Given the description of an element on the screen output the (x, y) to click on. 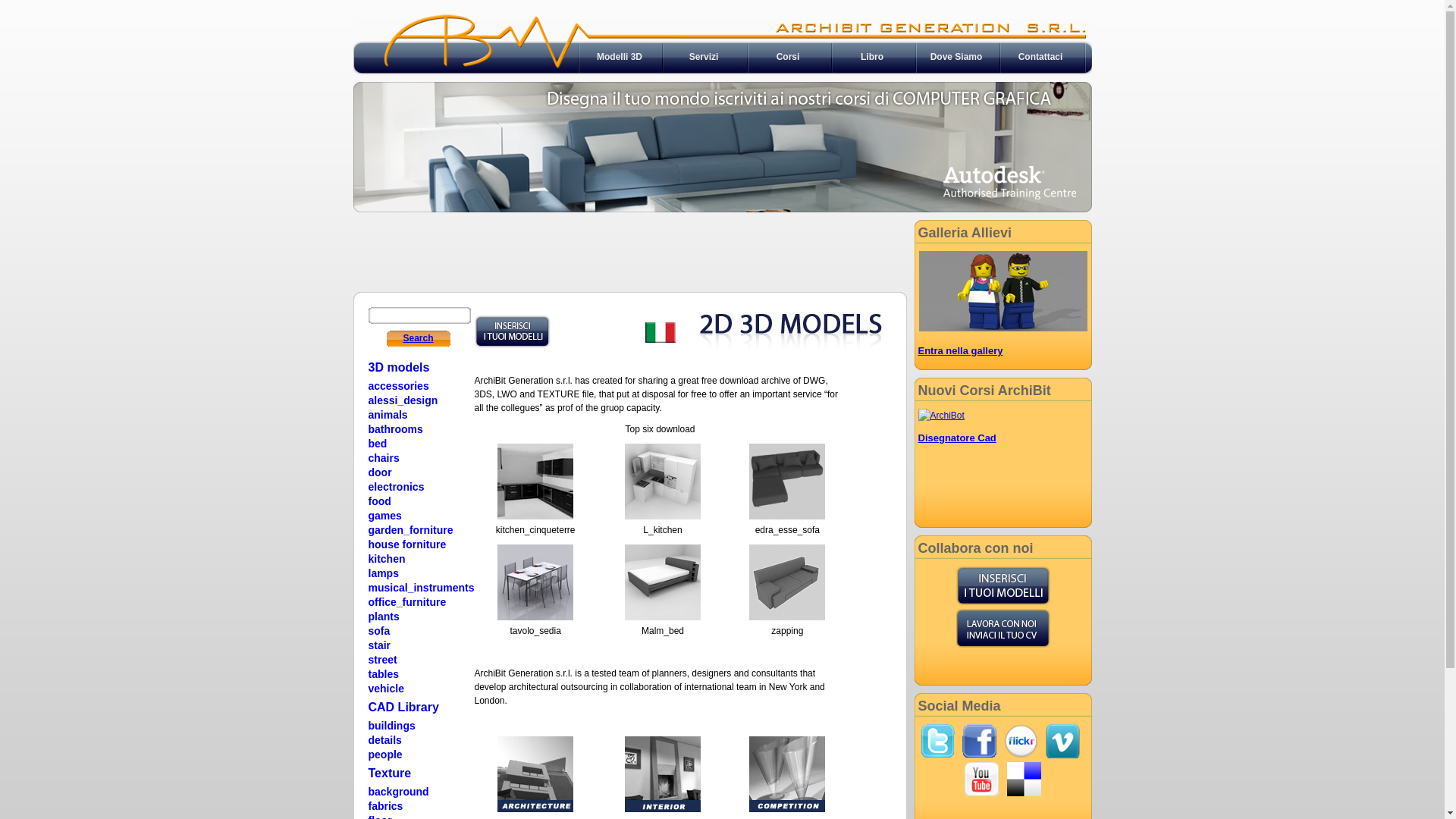
details Element type: text (384, 740)
electronics Element type: text (396, 486)
Archibit Generation S.r.l. Element type: hover (722, 70)
Archibit Generation S.r.l. Element type: hover (722, 208)
Texture Element type: text (389, 771)
kitchen Element type: text (386, 558)
tables Element type: text (383, 674)
street Element type: text (382, 659)
bed Element type: text (377, 443)
musical_instruments Element type: text (421, 587)
stair Element type: text (379, 645)
plants Element type: text (383, 616)
Corsi Element type: text (788, 56)
Le nostre immagini su Flickr Element type: hover (1021, 741)
sofa Element type: text (379, 630)
bathrooms Element type: text (395, 429)
garden_forniture Element type: text (410, 530)
food Element type: text (379, 501)
buildings Element type: text (391, 725)
office_furniture Element type: text (407, 602)
Servizi Element type: text (703, 56)
Seguici su Twitter Element type: hover (937, 741)
Lavora con noi Element type: hover (1002, 627)
house forniture Element type: text (407, 544)
games Element type: text (384, 515)
Modelli 3D Element type: text (619, 56)
vehicle Element type: text (386, 688)
background Element type: text (398, 791)
people Element type: text (385, 754)
accessories Element type: text (398, 385)
Seguici su Facebook Element type: hover (979, 741)
I nostri video su You Tube Element type: hover (981, 779)
Advertisement Element type: hover (629, 253)
animals Element type: text (387, 414)
Disegnatore Cad Element type: text (956, 437)
lamps Element type: text (383, 573)
I nostri video su Vimeo Element type: hover (1062, 741)
3D models Element type: text (398, 366)
Inviaci i tuoi modelli Element type: hover (1002, 585)
CAD Library Element type: text (403, 706)
Search Element type: text (417, 337)
Contattaci Element type: text (1040, 56)
Dove Siamo Element type: text (956, 56)
Inviaci i tuoi modelli Element type: hover (512, 331)
fabrics Element type: text (385, 806)
alessi_design Element type: text (403, 400)
Libro Element type: text (871, 56)
door Element type: text (380, 472)
chairs Element type: text (383, 457)
I nostri bookmark su delicious Element type: hover (1024, 779)
Entra nella gallery Element type: text (959, 350)
